Given the description of an element on the screen output the (x, y) to click on. 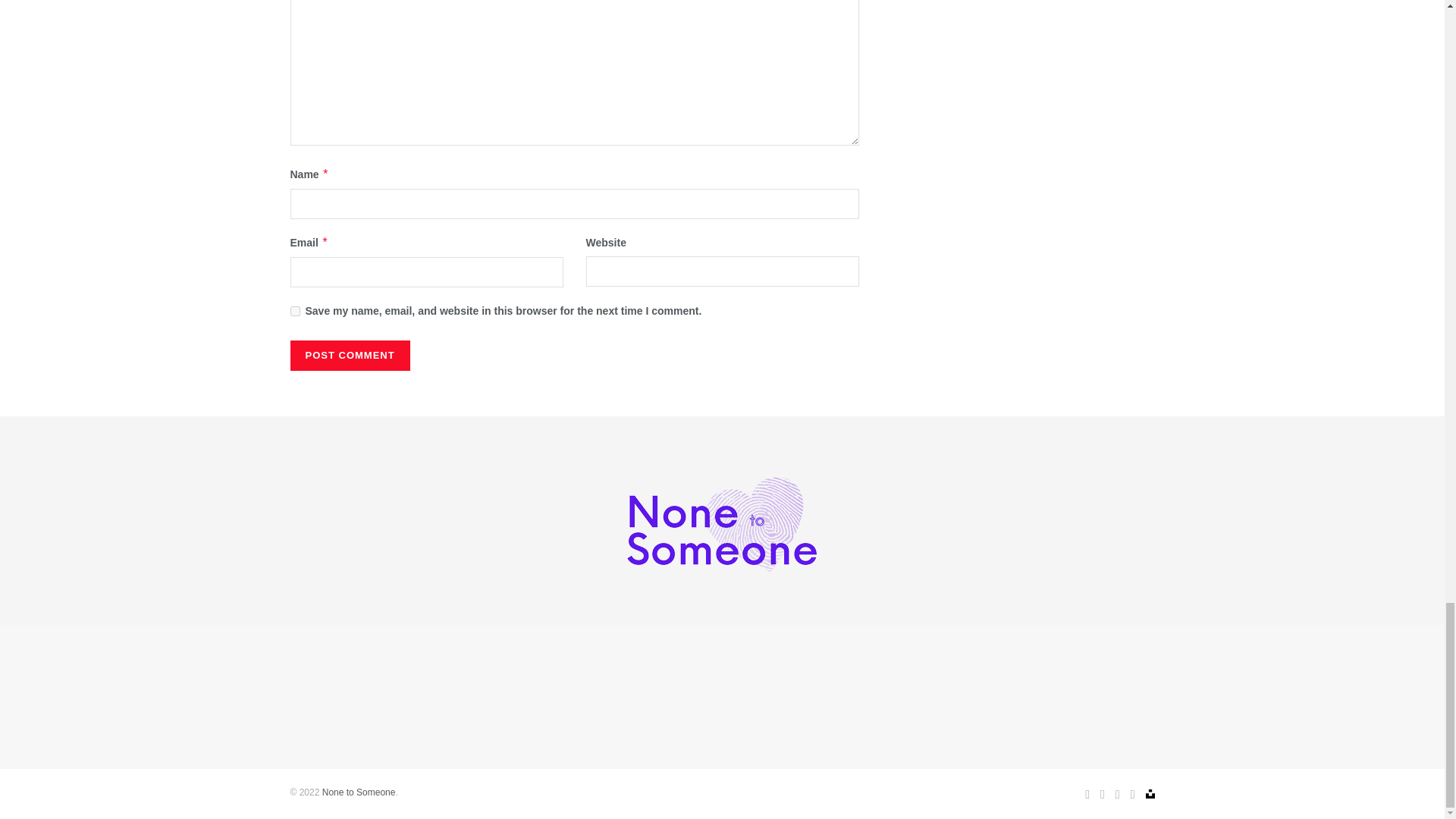
Post Comment (349, 355)
yes (294, 311)
